Given the description of an element on the screen output the (x, y) to click on. 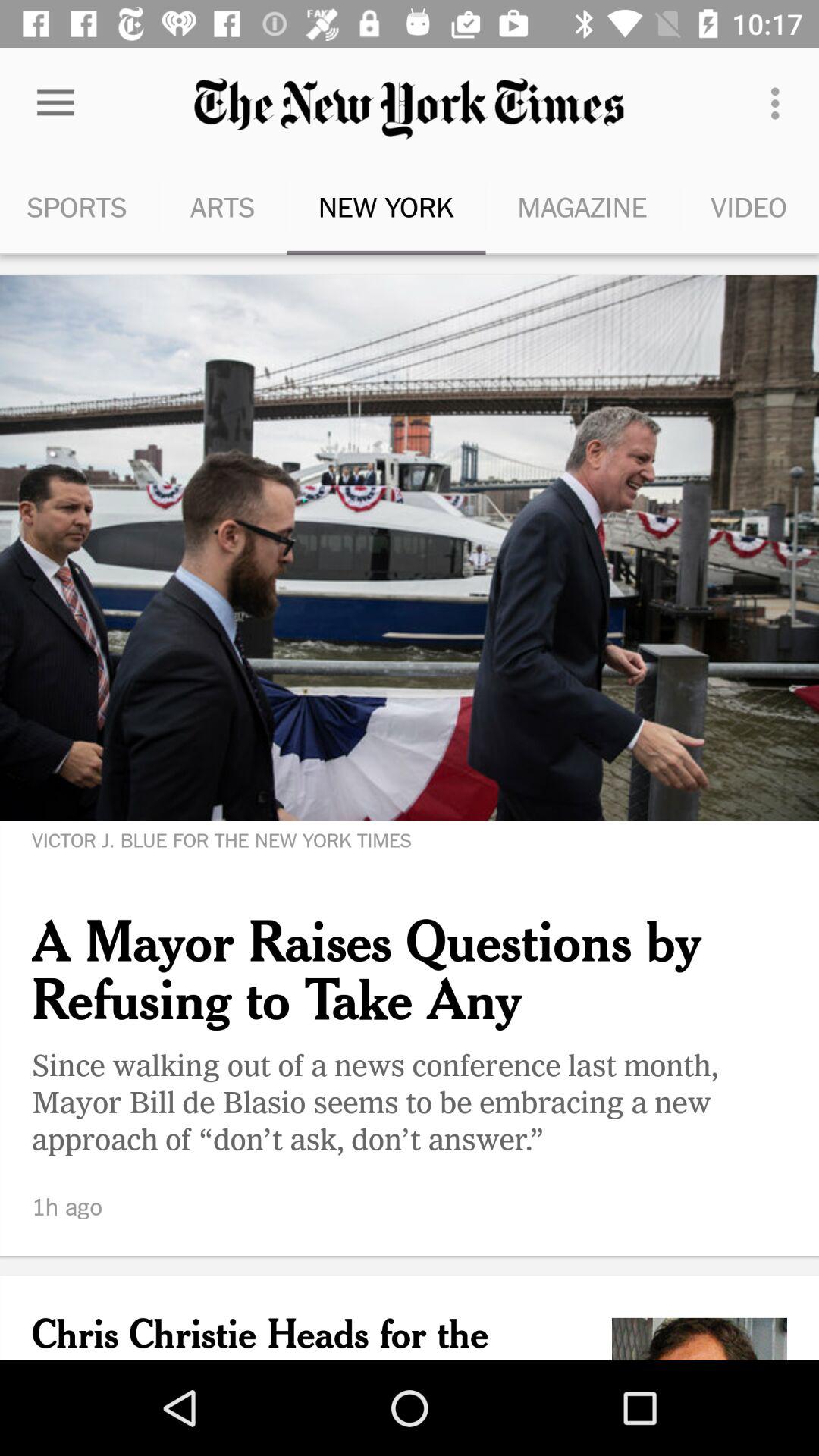
click the item next to the arts (55, 103)
